Given the description of an element on the screen output the (x, y) to click on. 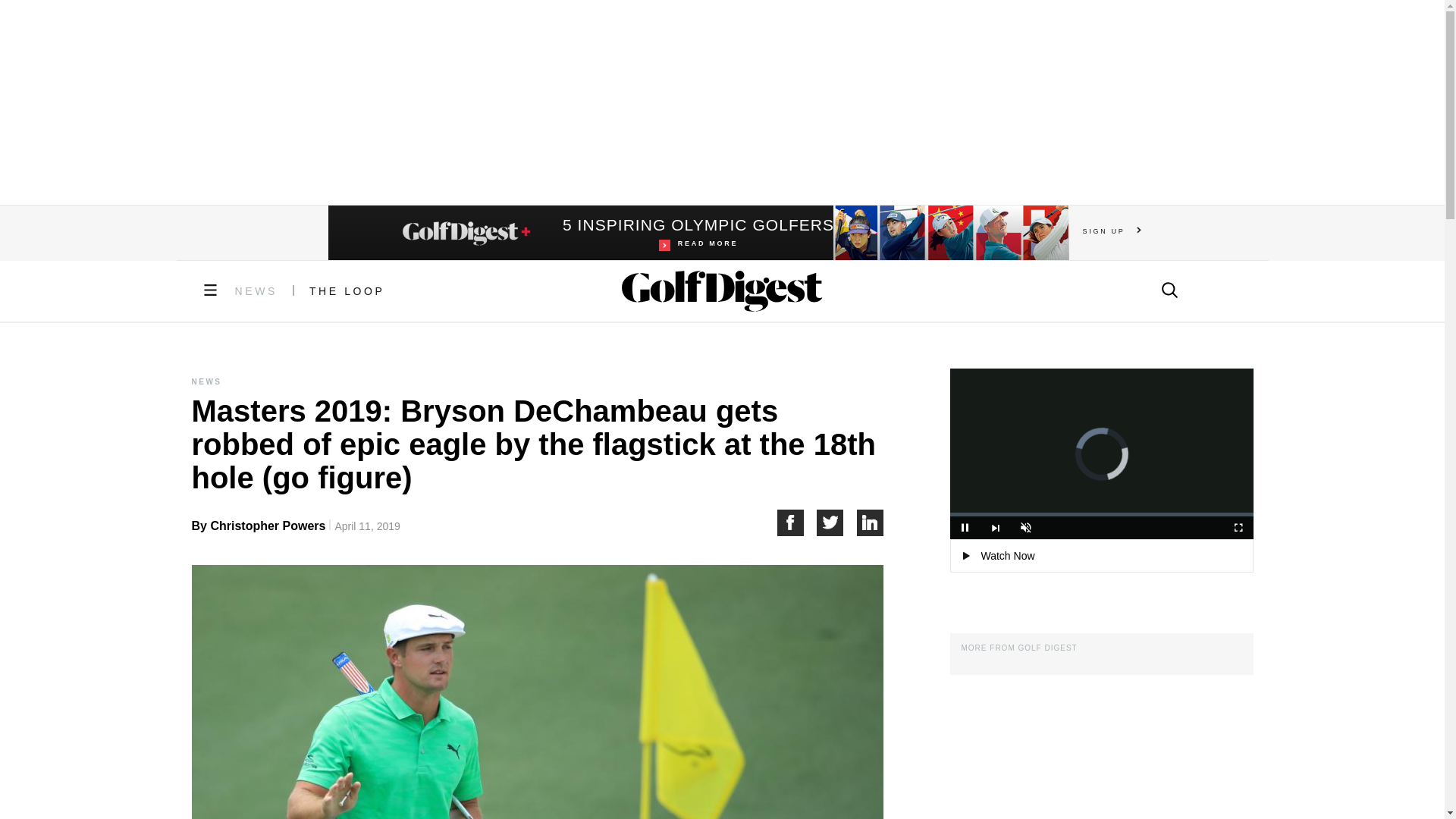
Share on Twitter (836, 522)
Unmute (1025, 527)
Next playlist item (994, 527)
Share on Facebook (796, 522)
Pause (964, 527)
THE LOOP (346, 291)
Share on LinkedIn (870, 522)
NEWS (256, 291)
Fullscreen (697, 232)
